Given the description of an element on the screen output the (x, y) to click on. 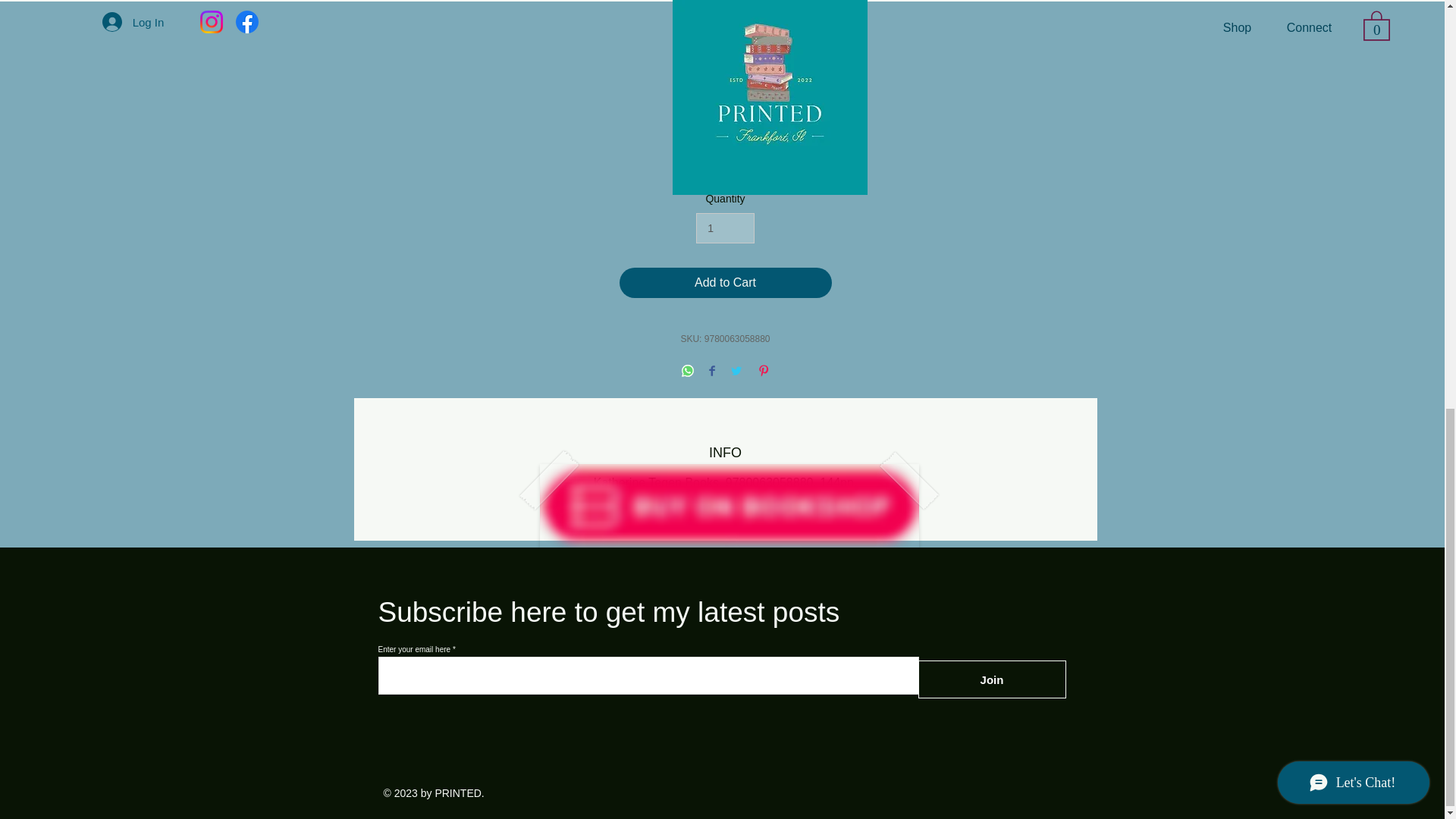
Add to Cart (724, 282)
1 (724, 228)
Join (991, 679)
Read more (725, 167)
bookshoplink.png (729, 505)
